Given the description of an element on the screen output the (x, y) to click on. 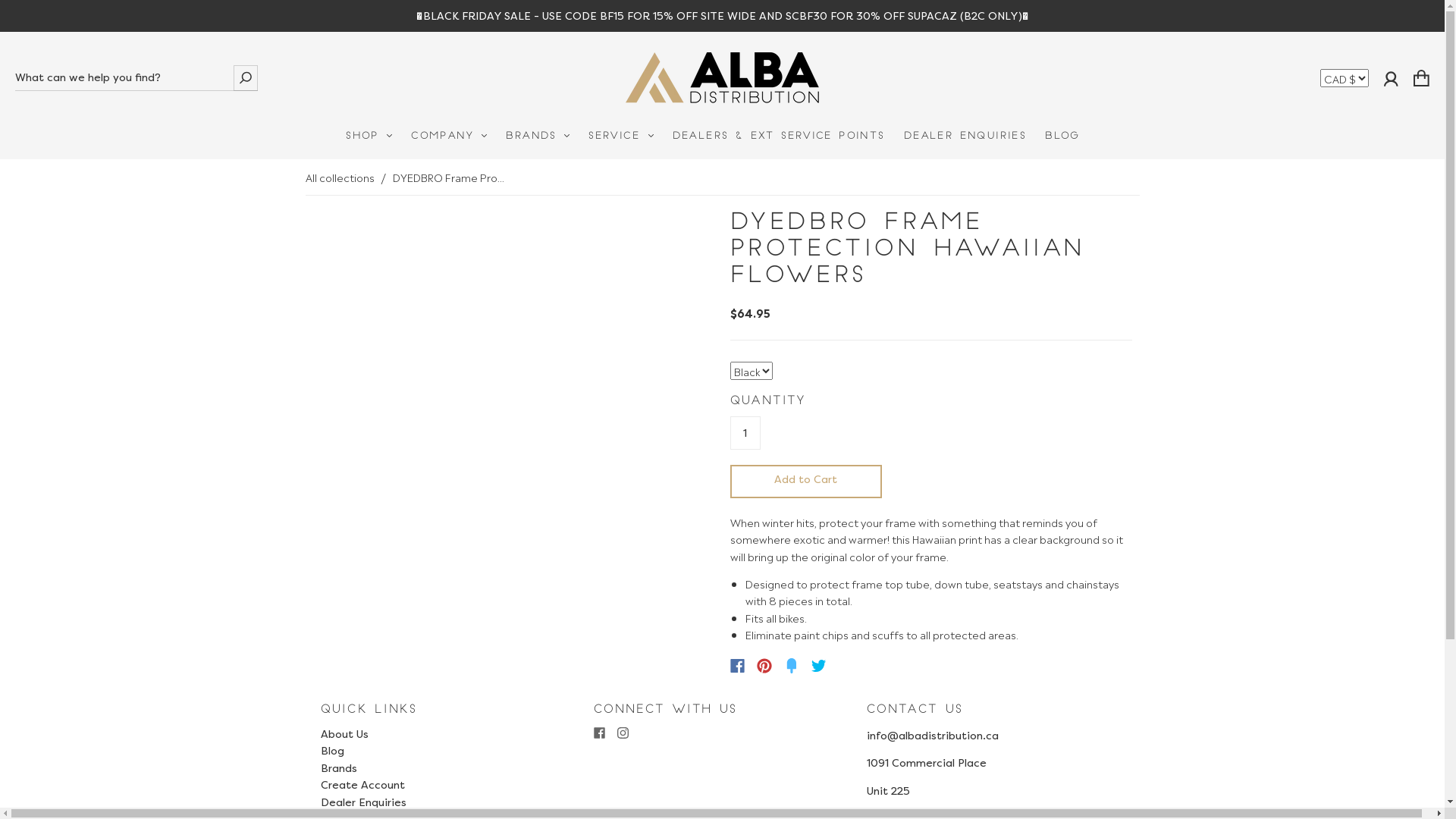
info@albadistribution.ca Element type: text (931, 735)
Dealer Enquiries Element type: text (362, 802)
SHOP Element type: text (368, 136)
Google Element type: hover (849, 665)
Blog Element type: text (331, 750)
BLOG Element type: text (1061, 136)
Fancy Element type: hover (791, 665)
Facebook Element type: hover (736, 665)
Create Account Element type: text (362, 784)
COMPANY Element type: text (448, 136)
DEALER ENQUIRIES Element type: text (964, 136)
DEALERS & EXT SERVICE POINTS Element type: text (777, 136)
Add to Cart Element type: text (805, 481)
About Us Element type: text (343, 733)
All collections Element type: text (338, 176)
BRANDS Element type: text (537, 136)
Twitter Element type: hover (818, 665)
SERVICE Element type: text (620, 136)
Pinterest Element type: hover (764, 665)
Brands Element type: text (338, 768)
